Given the description of an element on the screen output the (x, y) to click on. 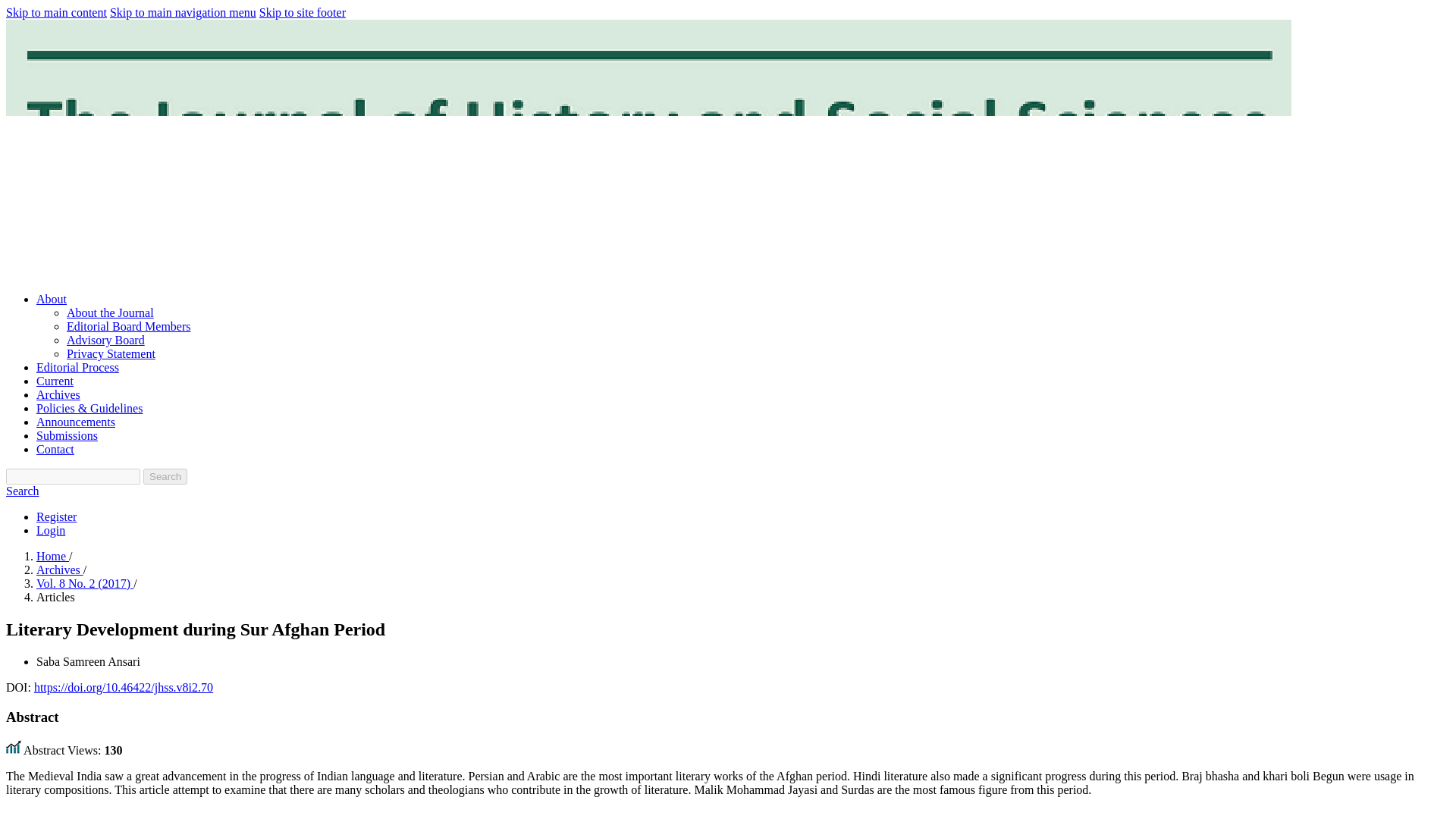
Skip to main content (55, 11)
Skip to site footer (302, 11)
Submissions (66, 435)
Editorial Process (77, 367)
Skip to main navigation menu (183, 11)
Archives (58, 394)
Archives (59, 569)
Search (164, 476)
About the Journal (110, 312)
Privacy Statement (110, 353)
Editorial Board Members (128, 326)
Current (55, 380)
Announcements (75, 421)
Register (56, 516)
Search (22, 490)
